Given the description of an element on the screen output the (x, y) to click on. 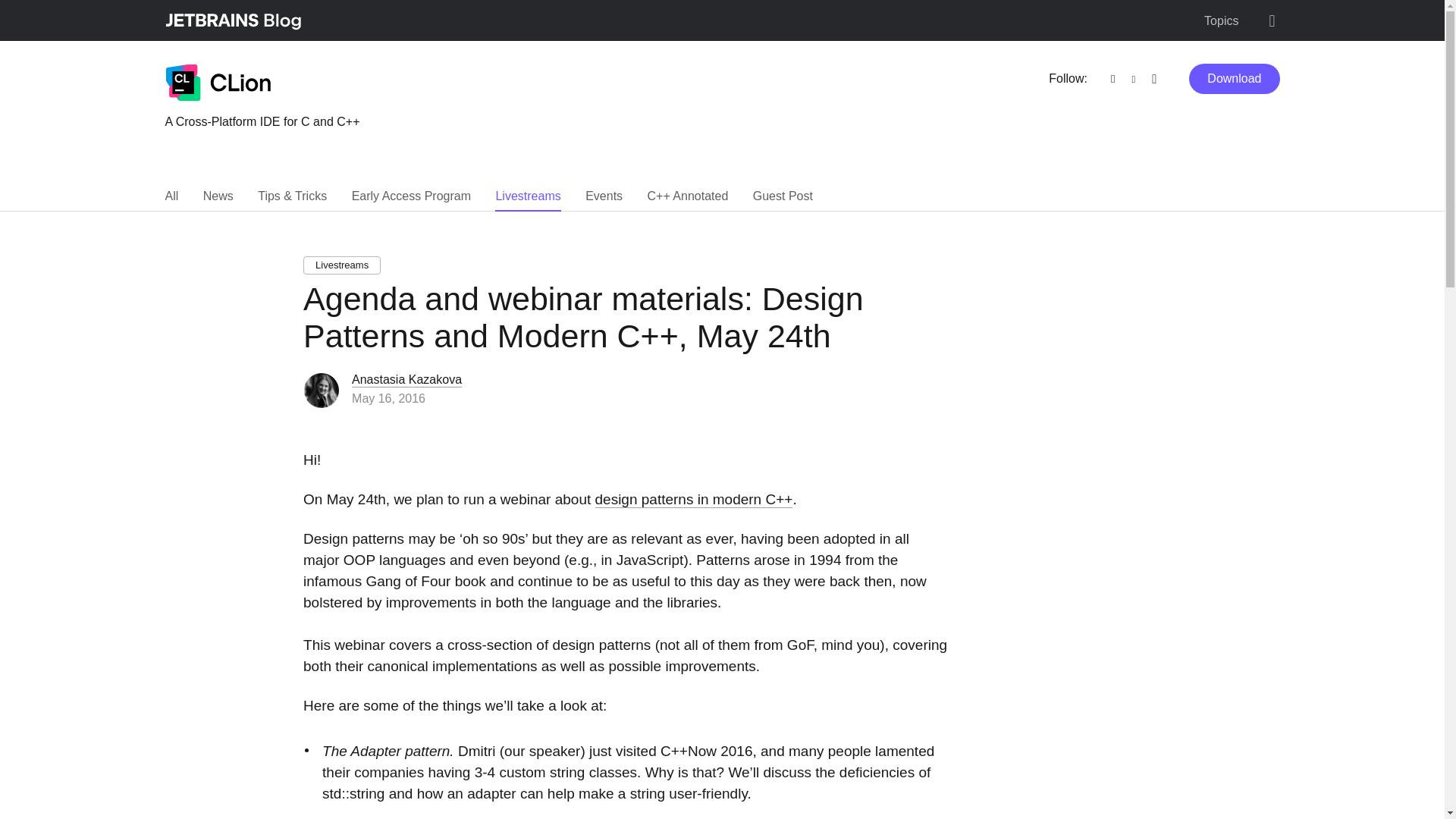
Topics (1221, 21)
Search (1271, 21)
